Given the description of an element on the screen output the (x, y) to click on. 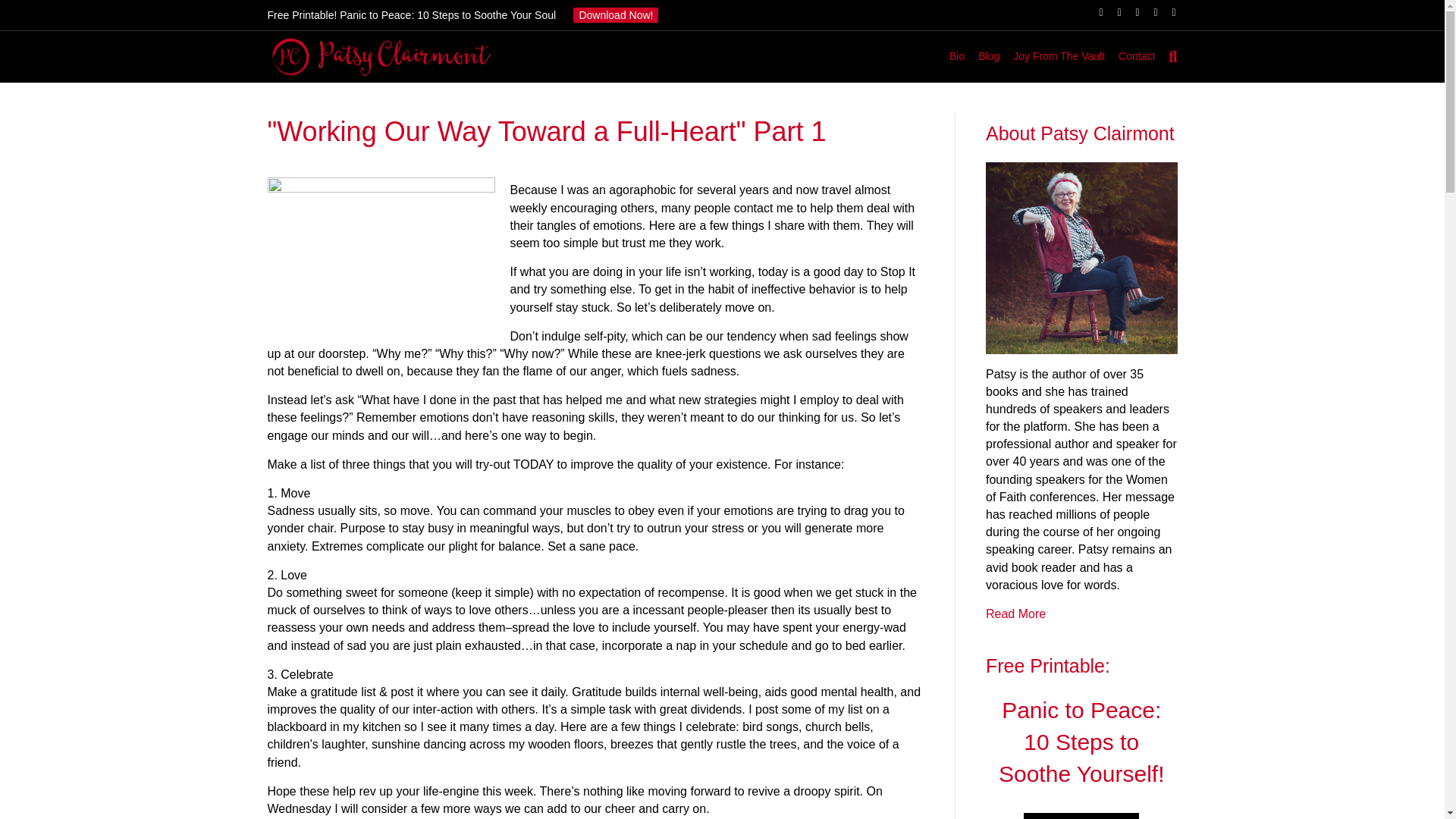
Instagram (1165, 11)
Contact (1136, 56)
Joy From The Vault (1059, 56)
Facebook (1093, 11)
Blog (988, 56)
Twitter (1111, 11)
Pinterest (1129, 11)
Download Now! (615, 14)
Read More (1015, 613)
Youtube (1147, 11)
